Given the description of an element on the screen output the (x, y) to click on. 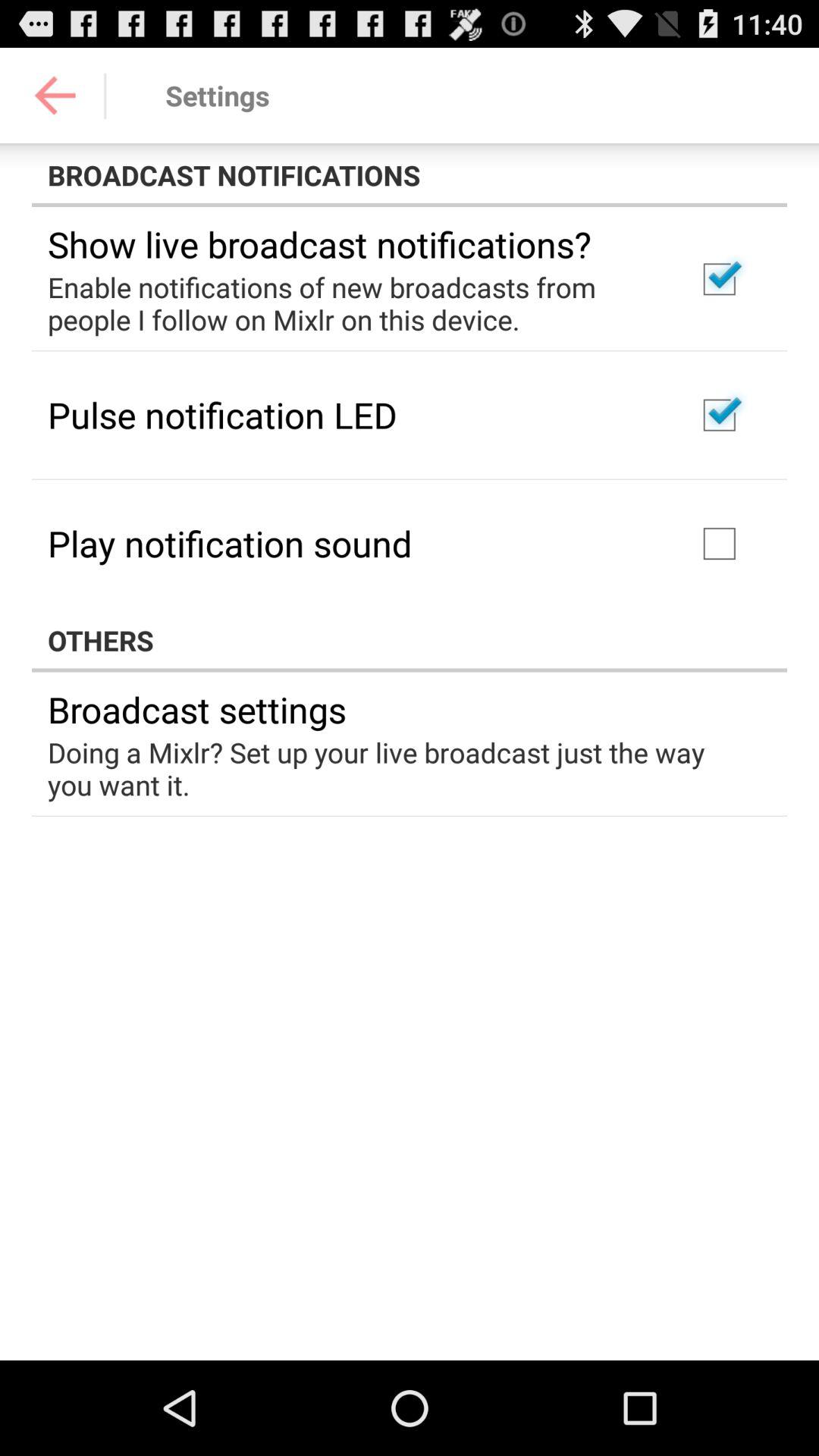
swipe until play notification sound item (229, 543)
